Given the description of an element on the screen output the (x, y) to click on. 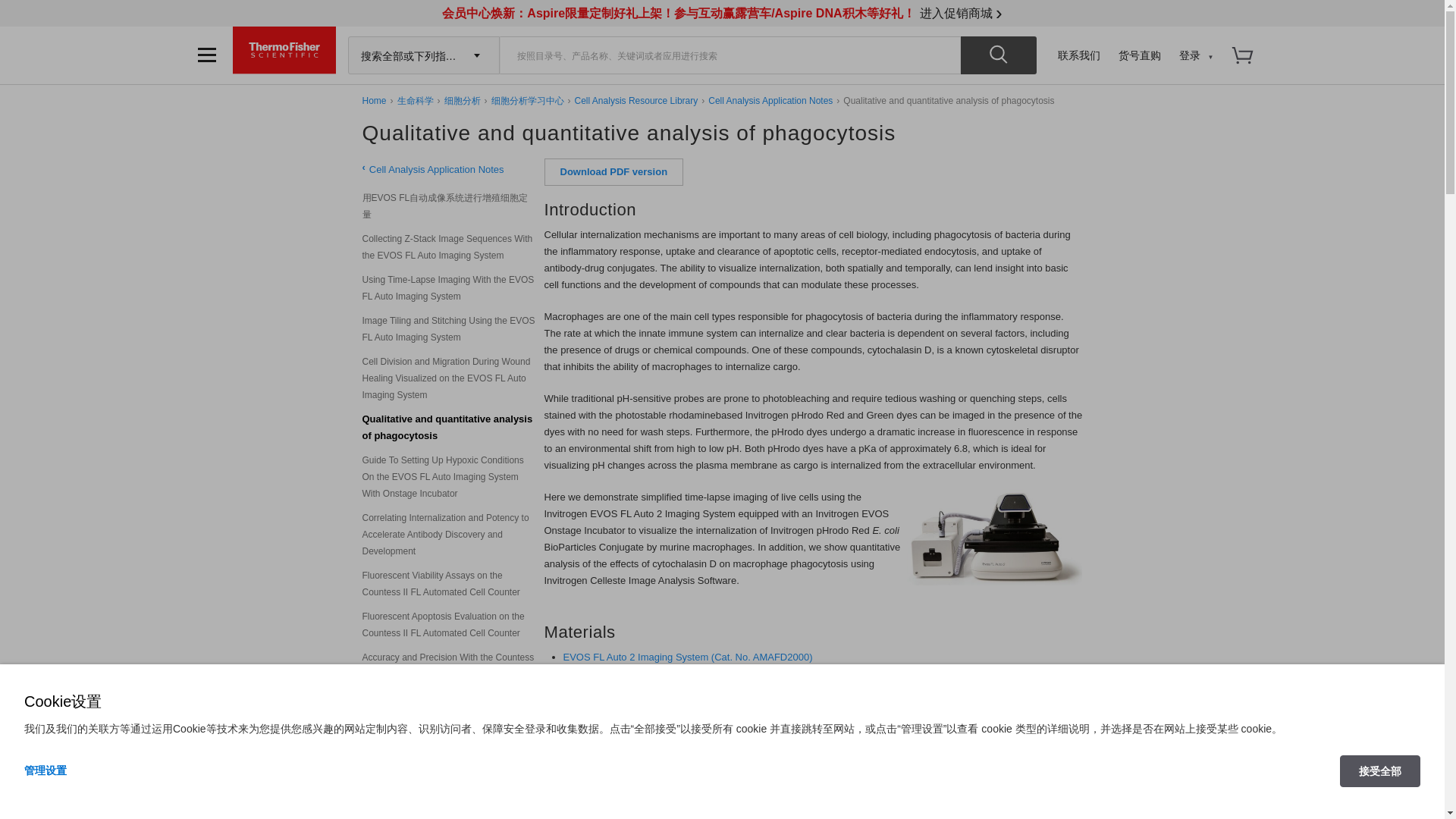
EVOS FL Auto 2 (995, 537)
